Given the description of an element on the screen output the (x, y) to click on. 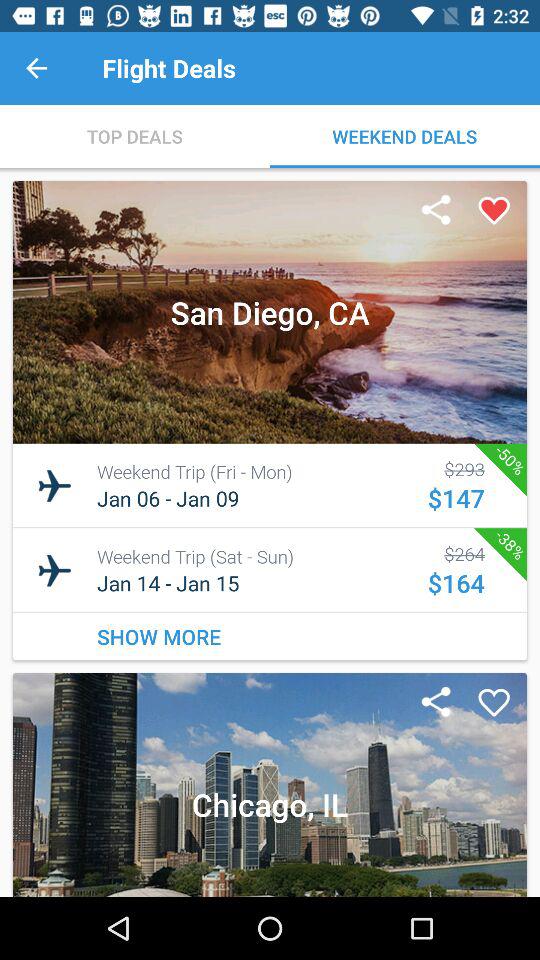
share (435, 211)
